Given the description of an element on the screen output the (x, y) to click on. 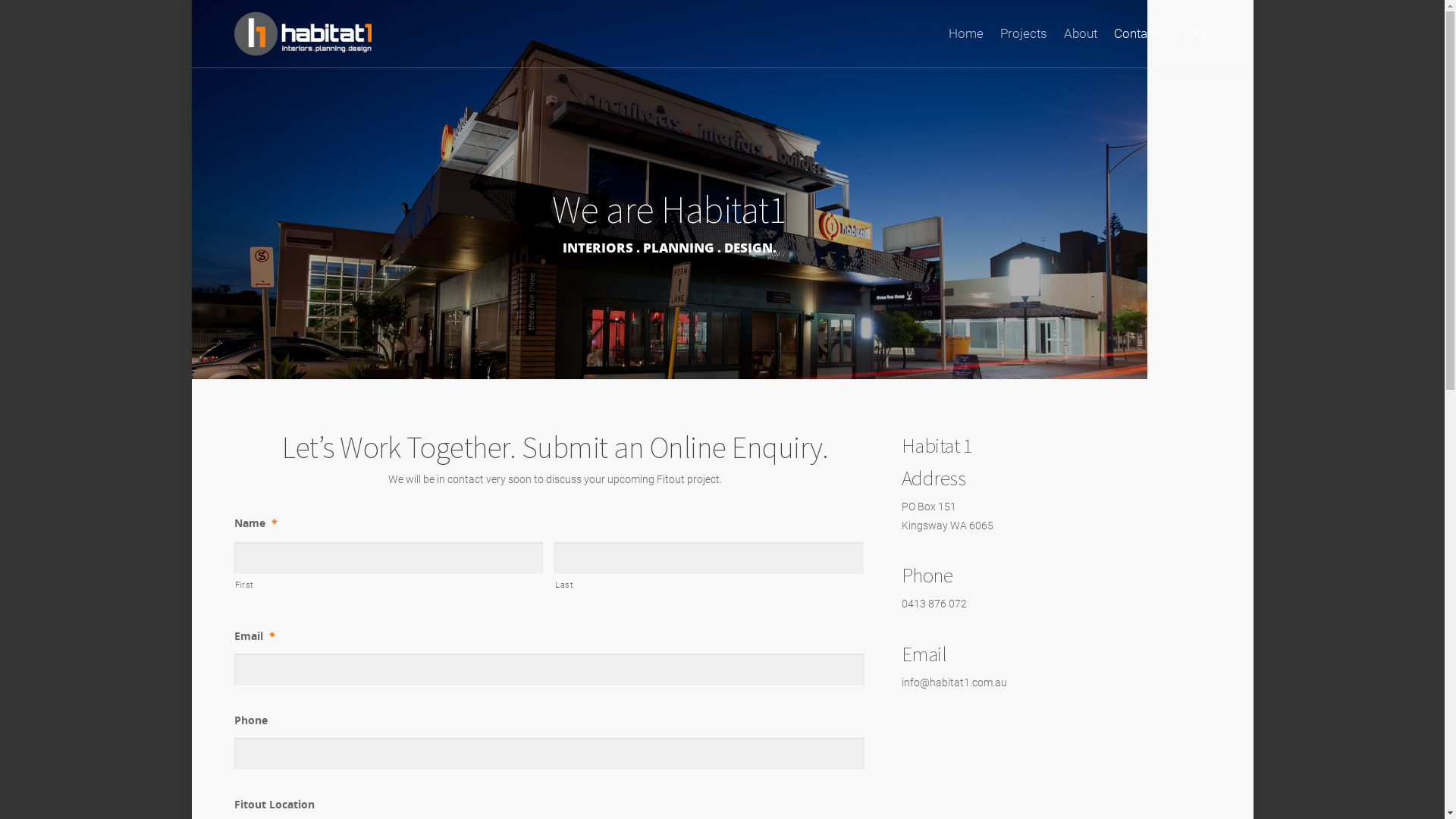
Home Element type: text (965, 39)
Projects Element type: text (1022, 39)
About Element type: text (1079, 39)
Contact Element type: text (1134, 39)
